Given the description of an element on the screen output the (x, y) to click on. 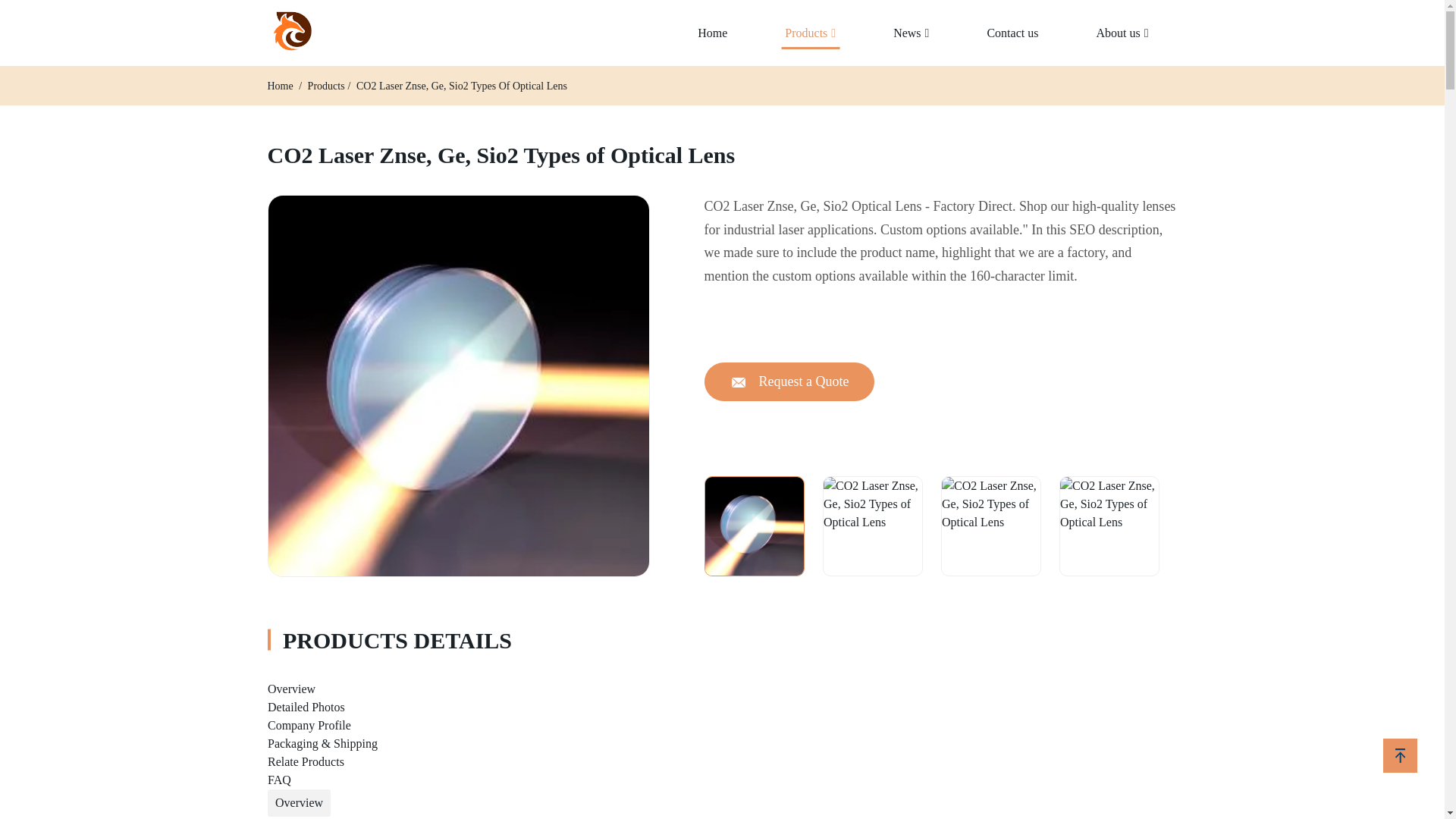
Contact us (1012, 33)
Request a Quote (789, 381)
Products (326, 85)
About us (1121, 33)
Home (280, 85)
